Given the description of an element on the screen output the (x, y) to click on. 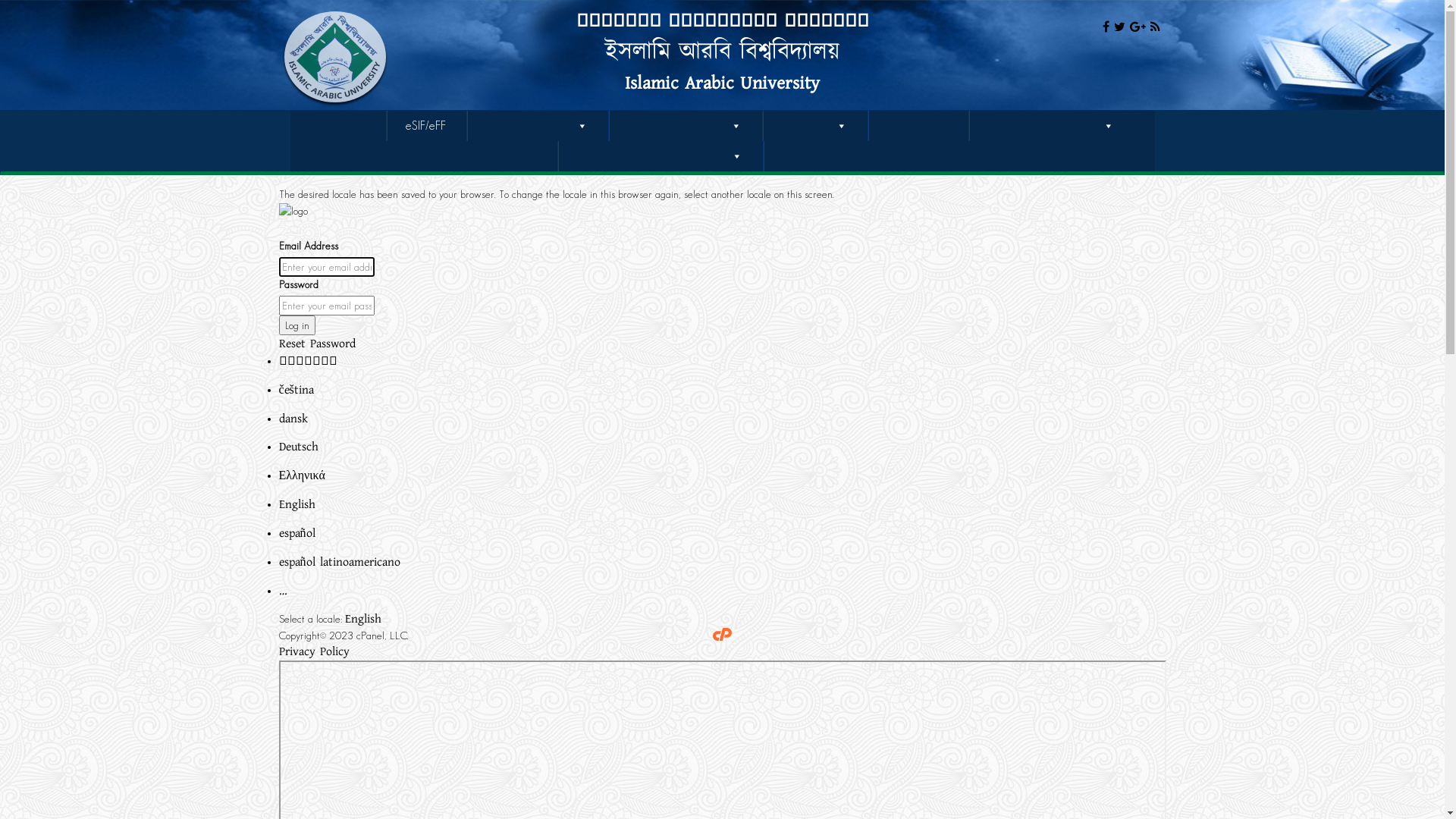
eSIF/eFF Element type: text (425, 125)
Reset Password Element type: text (317, 343)
English Element type: text (362, 618)
Privacy Policy Element type: text (314, 651)
English Element type: text (297, 503)
Islamic Arabic University Element type: text (721, 83)
Deutsch Element type: text (298, 446)
dansk Element type: text (293, 418)
Log in Element type: text (297, 325)
